Given the description of an element on the screen output the (x, y) to click on. 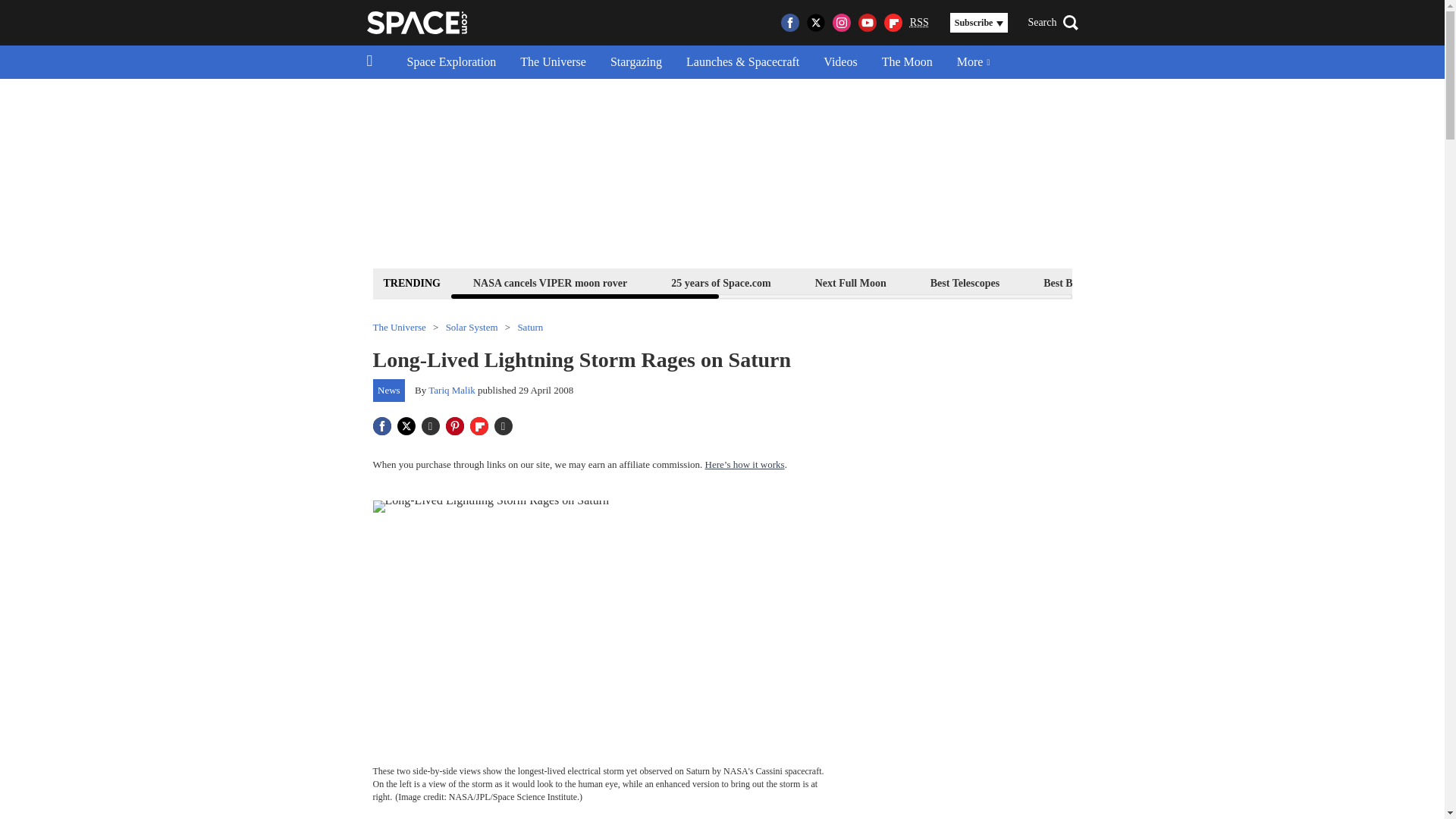
Really Simple Syndication (919, 21)
25 years of Space.com (720, 282)
Best Star Projectors (1204, 282)
RSS (919, 22)
Next Full Moon (850, 282)
NASA cancels VIPER moon rover (549, 282)
Best Telescopes (964, 282)
Space Exploration (451, 61)
Best Binoculars (1078, 282)
Space Calendar (1329, 282)
The Moon (906, 61)
The Universe (553, 61)
Videos (839, 61)
Stargazing (636, 61)
